Given the description of an element on the screen output the (x, y) to click on. 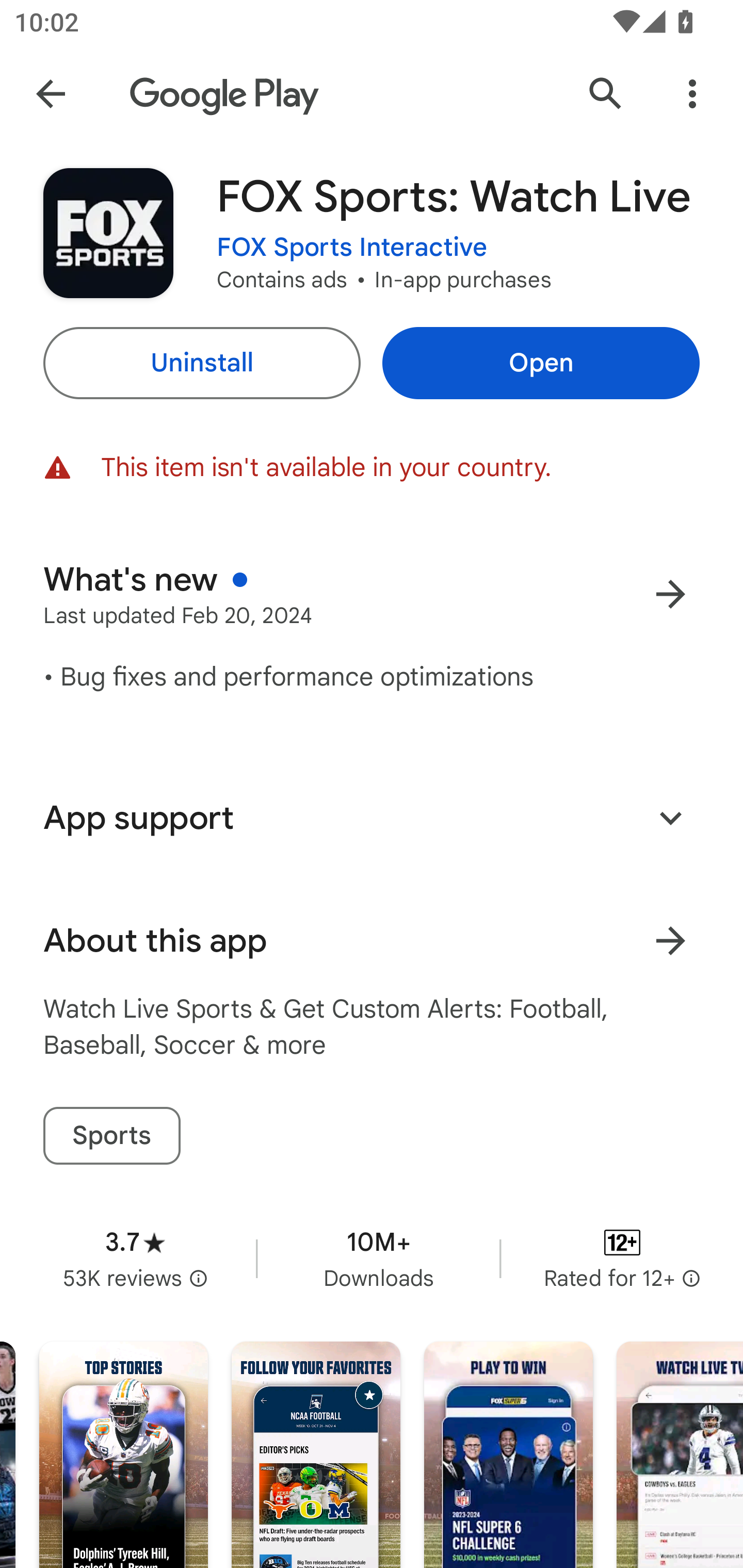
Navigate up (50, 93)
Search Google Play (605, 93)
More Options (692, 93)
FOX Sports Interactive (351, 247)
Uninstall (201, 362)
Open (540, 362)
More results for What's new (670, 594)
App support Expand (371, 817)
Expand (670, 817)
About this app Learn more About this app (371, 940)
Learn more About this app (670, 940)
Sports tag (111, 1135)
Average rating 3.7 stars in 53 thousand reviews (135, 1258)
Content rating Rated for 12+ (622, 1258)
Screenshot "1" of "5" (123, 1455)
Screenshot "2" of "5" (315, 1455)
Screenshot "3" of "5" (508, 1455)
Screenshot "4" of "5" (679, 1455)
